Given the description of an element on the screen output the (x, y) to click on. 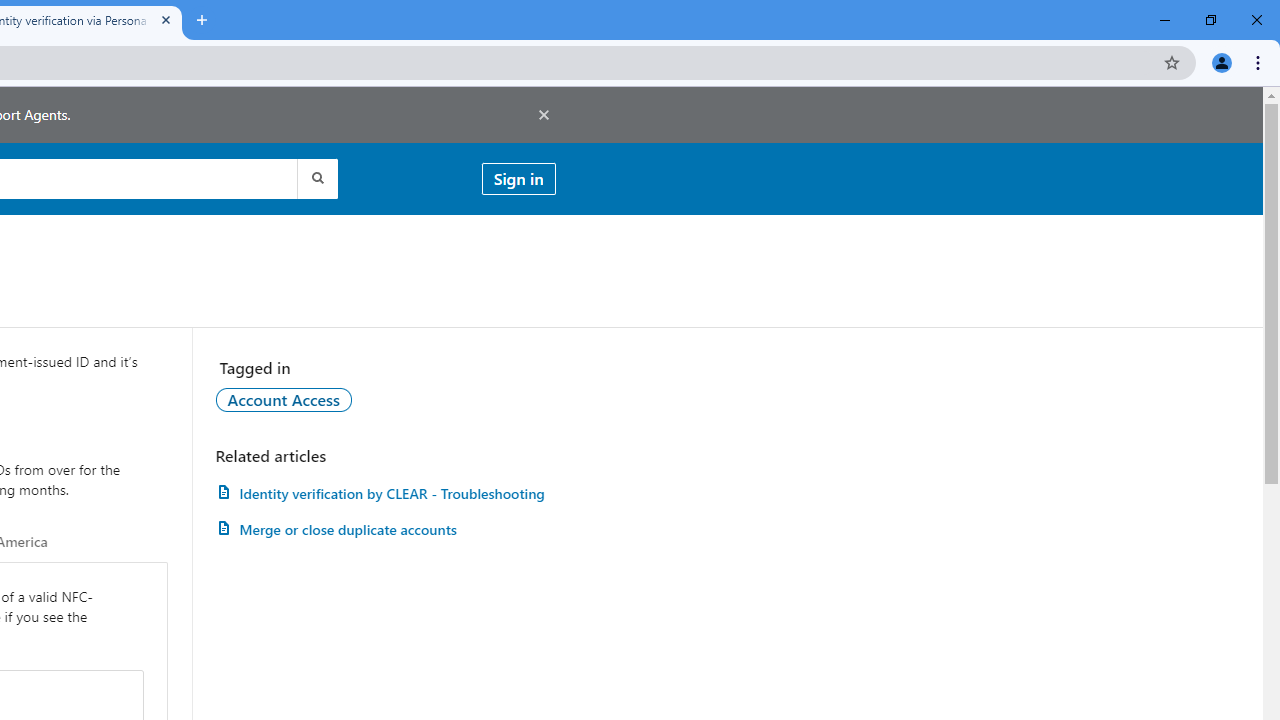
AutomationID: article-link-a1457505 (385, 493)
